Given the description of an element on the screen output the (x, y) to click on. 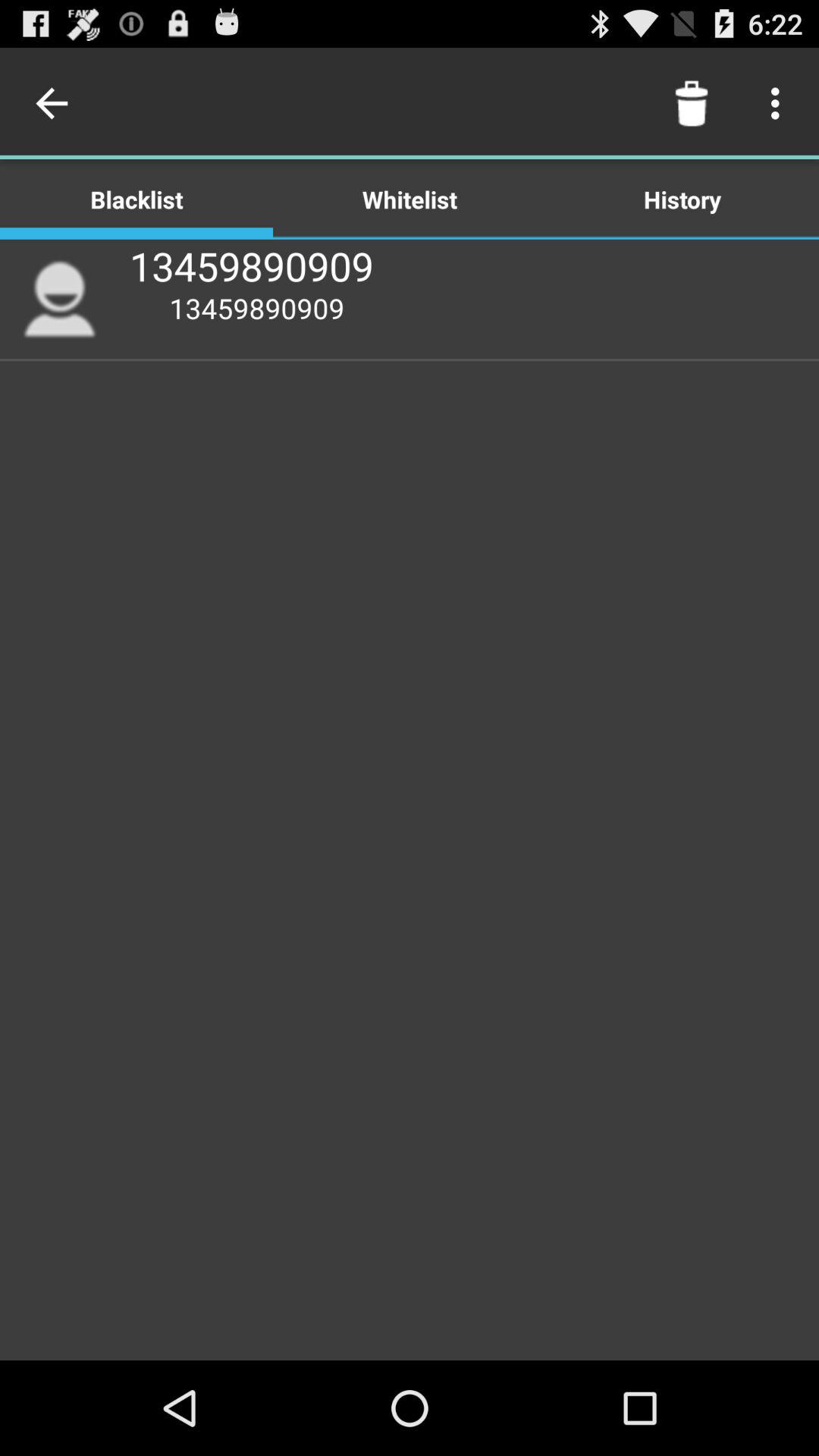
click item next to the whitelist (136, 199)
